Given the description of an element on the screen output the (x, y) to click on. 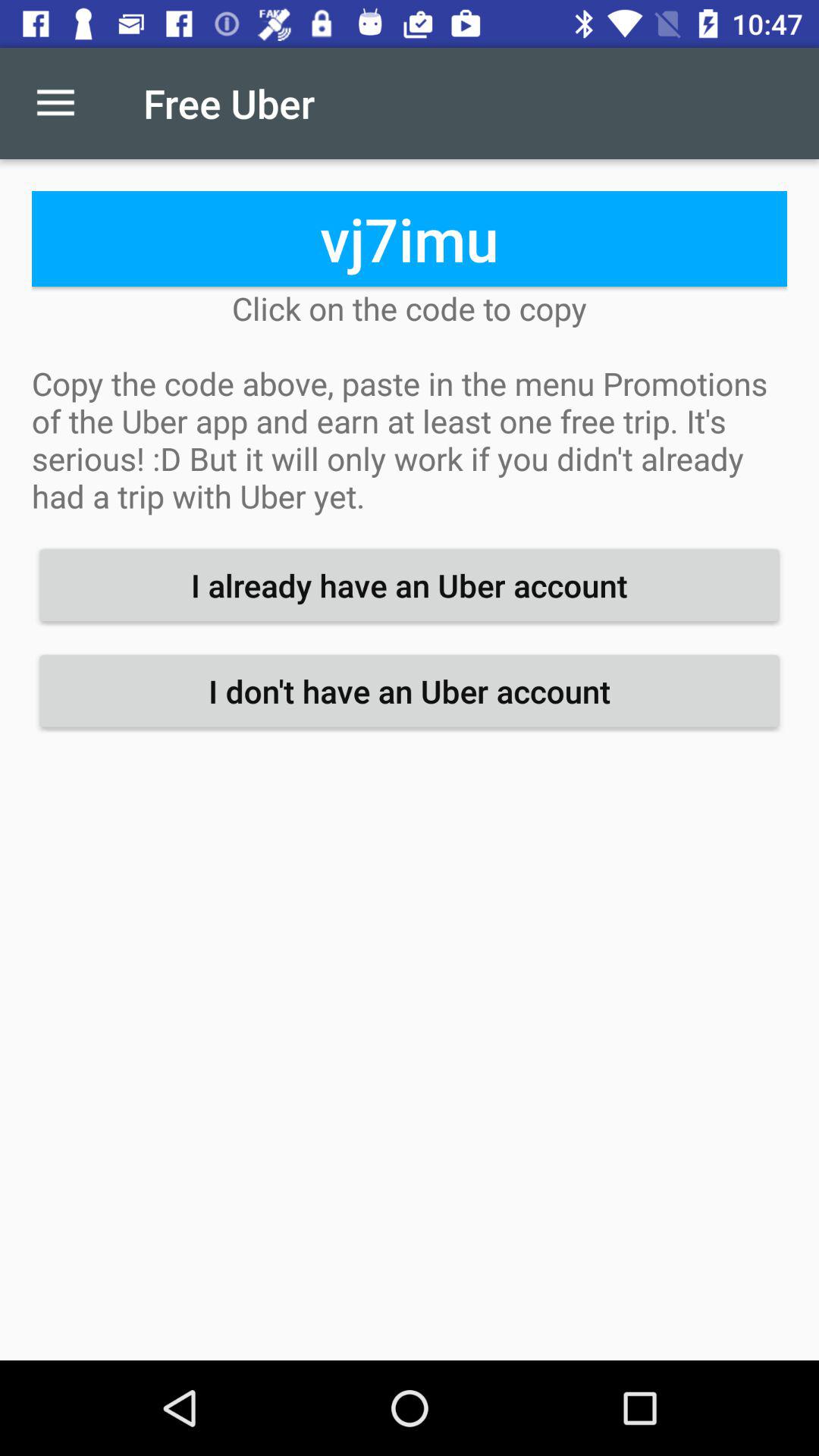
select i don t (409, 690)
